Given the description of an element on the screen output the (x, y) to click on. 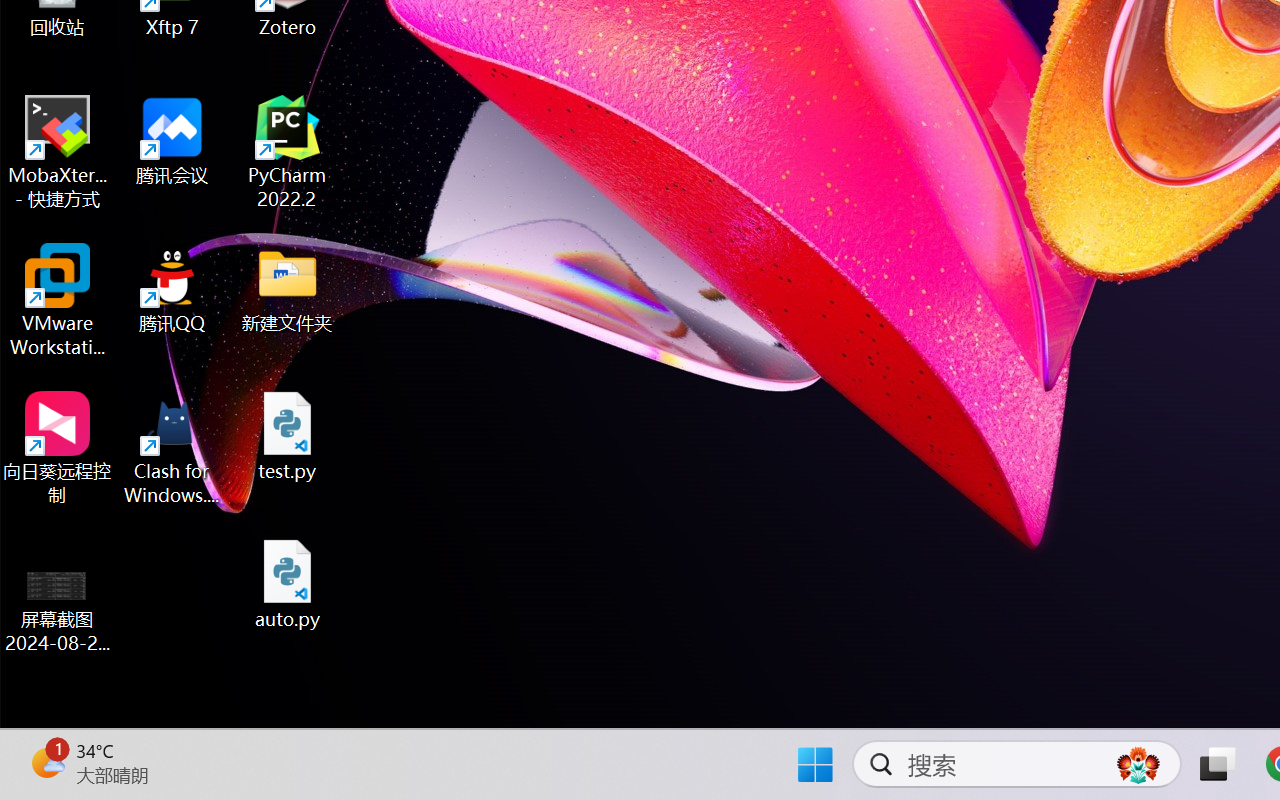
PyCharm 2022.2 (287, 152)
